Given the description of an element on the screen output the (x, y) to click on. 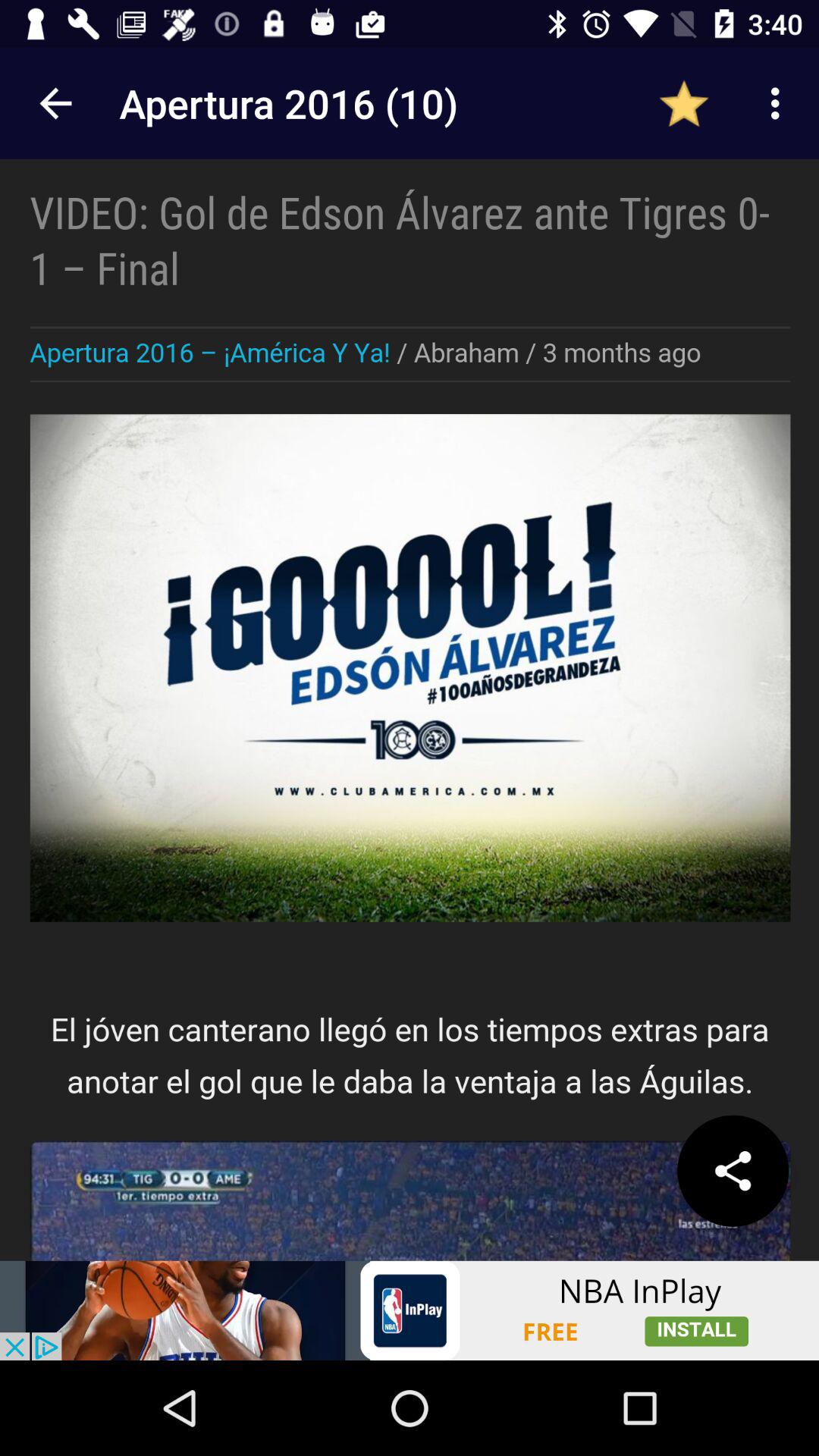
share (733, 1171)
